Given the description of an element on the screen output the (x, y) to click on. 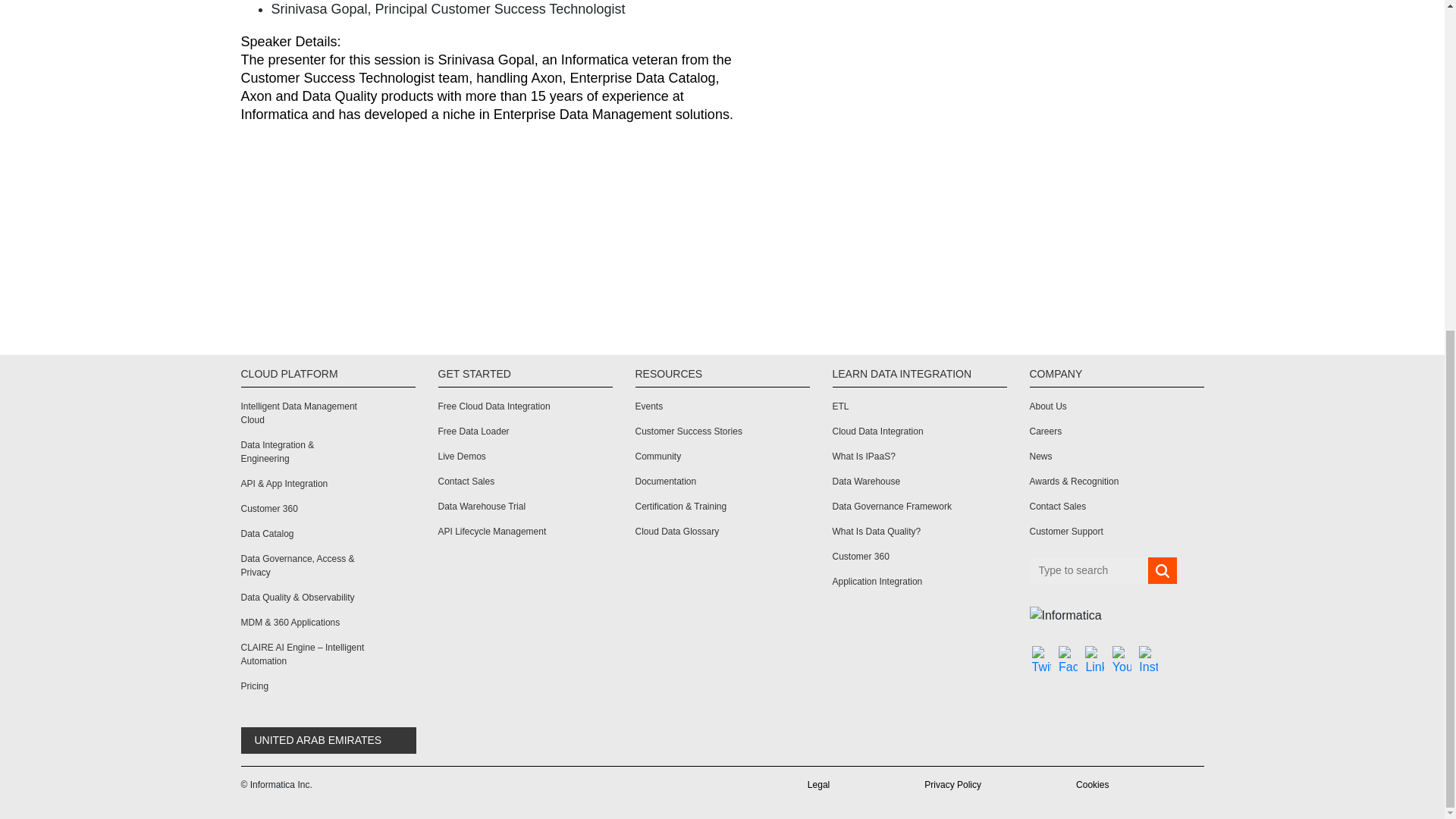
Search (1162, 571)
Insert a query. Press enter to send (1088, 569)
